Given the description of an element on the screen output the (x, y) to click on. 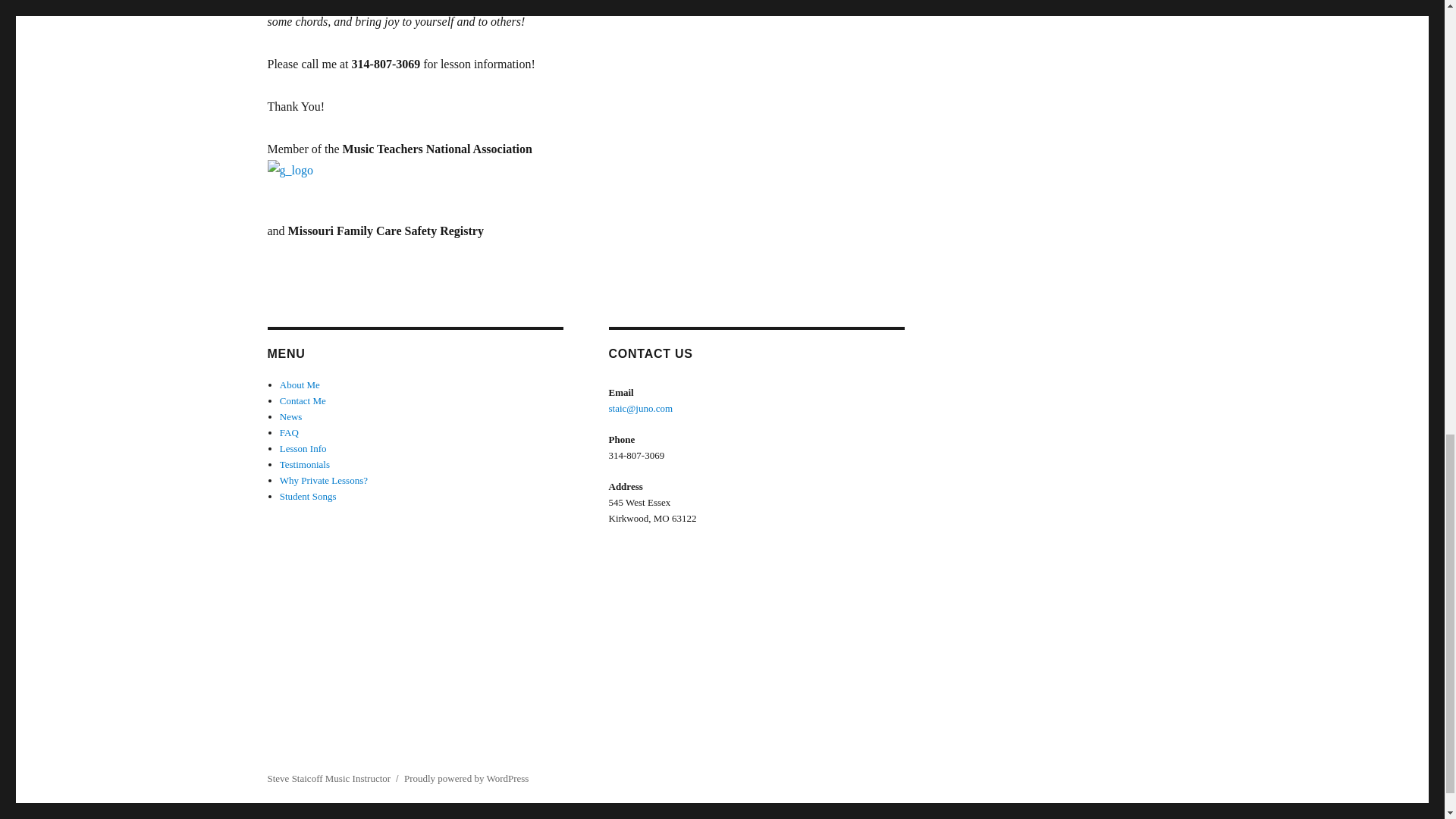
Testimonials (304, 464)
Contact Me (302, 400)
Why Private Lessons? (323, 480)
Student Songs (307, 496)
News (290, 416)
Proudly powered by WordPress (466, 778)
FAQ (288, 432)
Lesson Info (302, 448)
About Me (299, 384)
Steve Staicoff Music Instructor (328, 778)
